Given the description of an element on the screen output the (x, y) to click on. 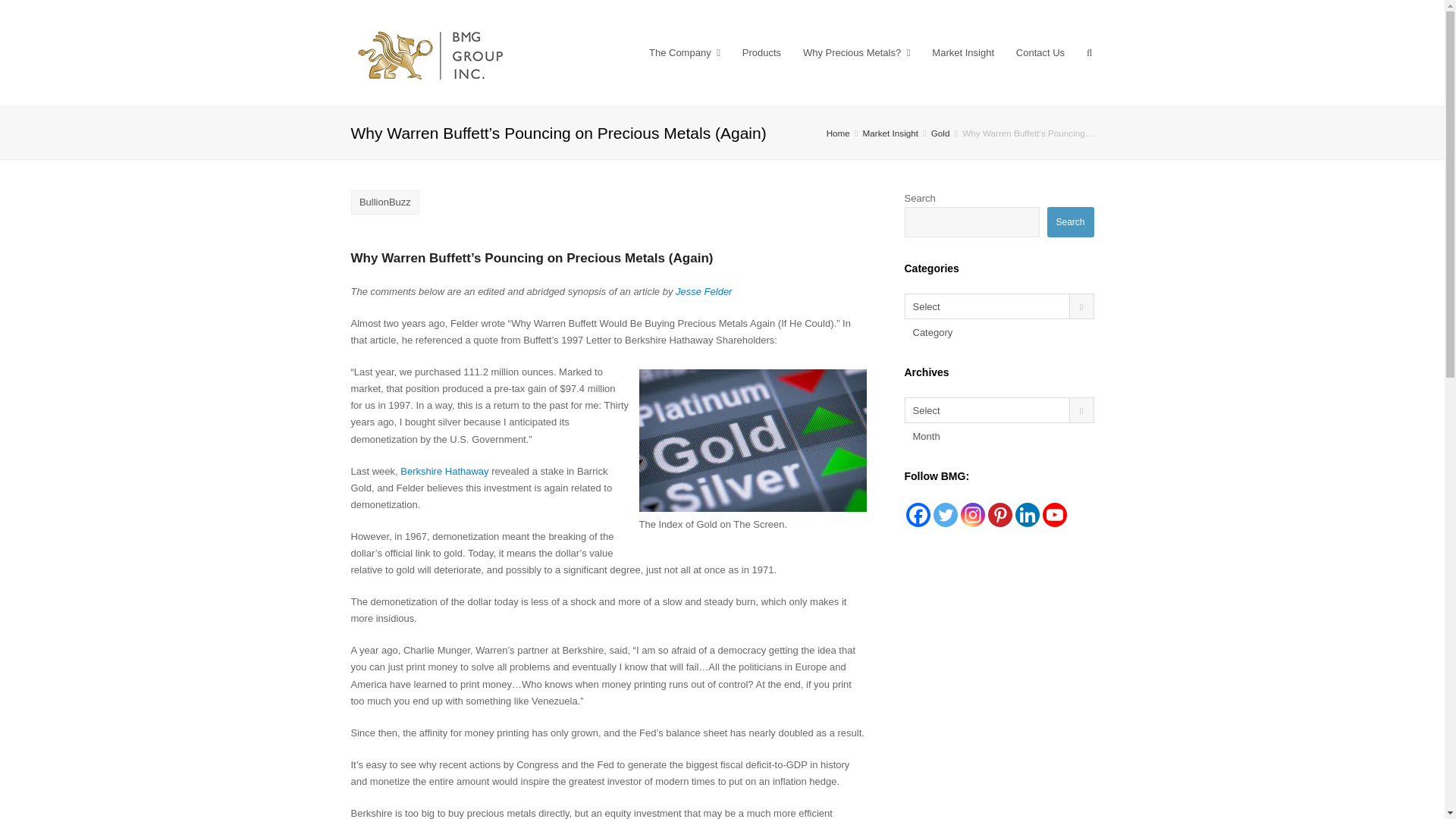
Market Insight (962, 53)
BMG (430, 52)
Products (761, 53)
Twitter (944, 514)
Pinterest (999, 514)
BullionBuzz (384, 202)
Berkshire Hathaway (446, 471)
Facebook (917, 514)
Jesse Felder (703, 291)
Instagram (971, 514)
